Given the description of an element on the screen output the (x, y) to click on. 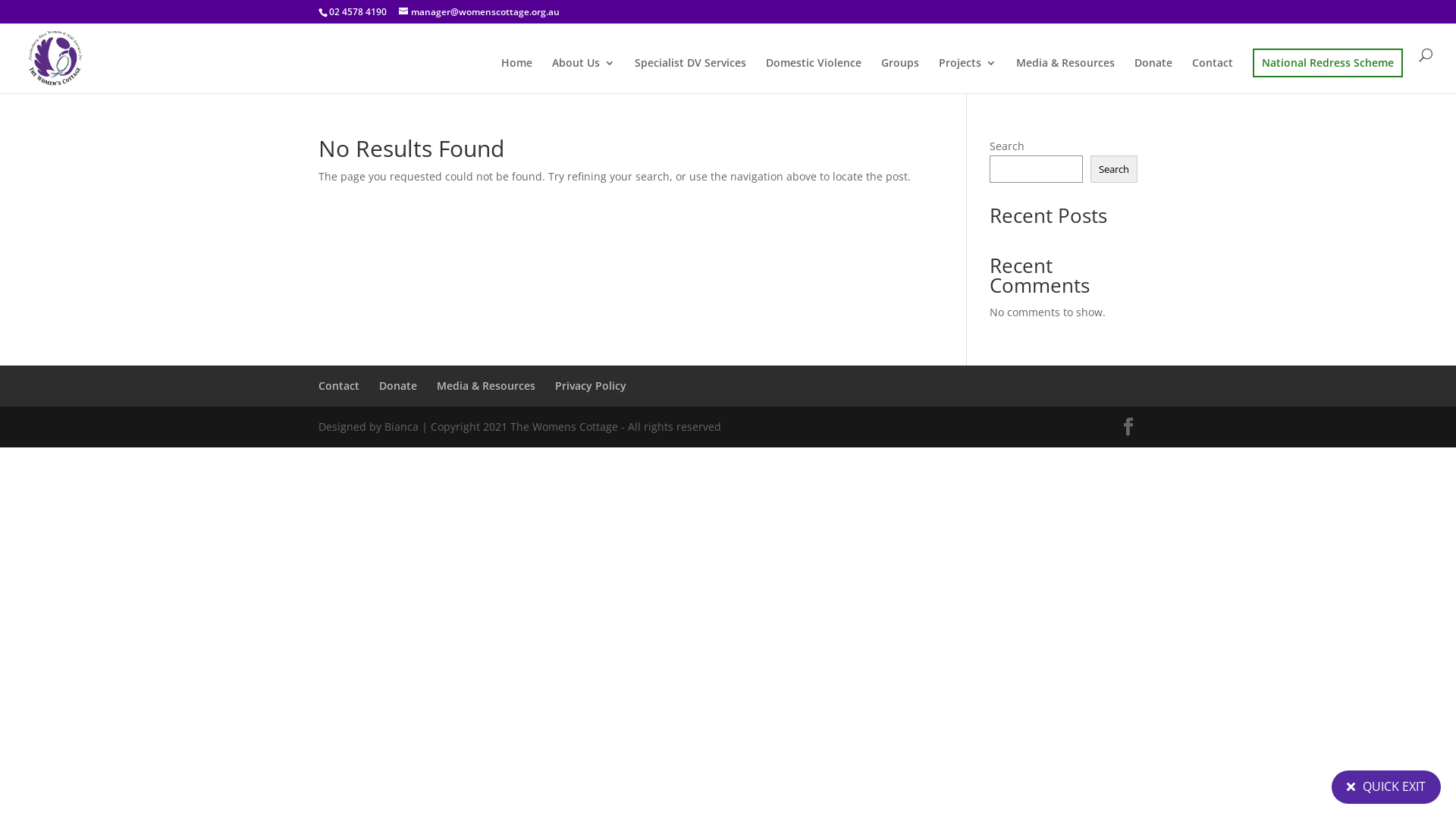
Privacy Policy Element type: text (590, 385)
Domestic Violence Element type: text (813, 75)
National Redress Scheme Element type: text (1327, 62)
Home Element type: text (516, 75)
Contact Element type: text (1212, 75)
manager@womenscottage.org.au Element type: text (478, 11)
Projects Element type: text (967, 75)
Donate Element type: text (398, 385)
About Us Element type: text (583, 75)
Media & Resources Element type: text (485, 385)
Groups Element type: text (900, 75)
Search Element type: text (1113, 168)
Specialist DV Services Element type: text (690, 75)
Donate Element type: text (1153, 75)
Contact Element type: text (338, 385)
Media & Resources Element type: text (1065, 75)
